Given the description of an element on the screen output the (x, y) to click on. 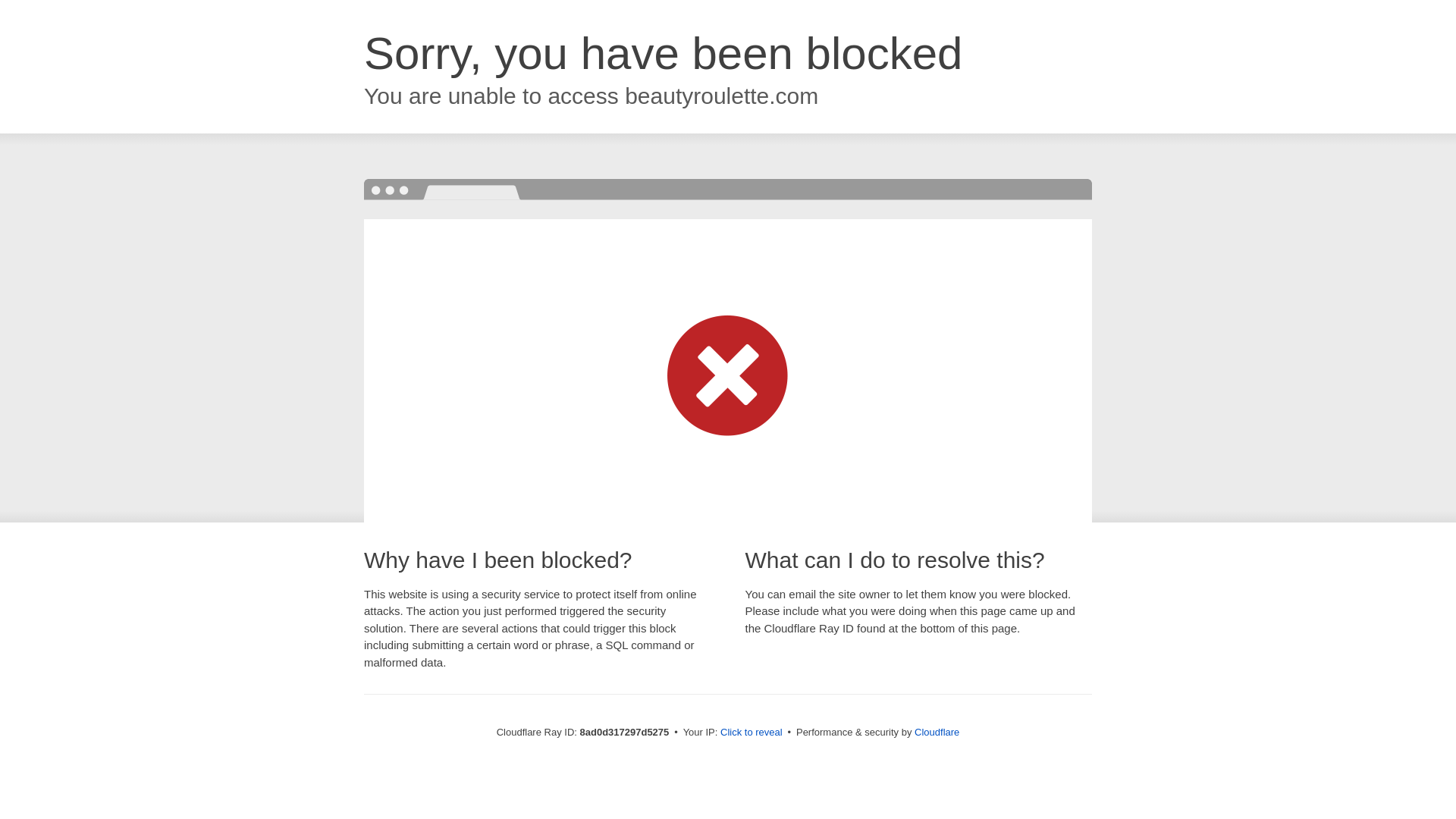
Cloudflare (936, 731)
Click to reveal (751, 732)
